Given the description of an element on the screen output the (x, y) to click on. 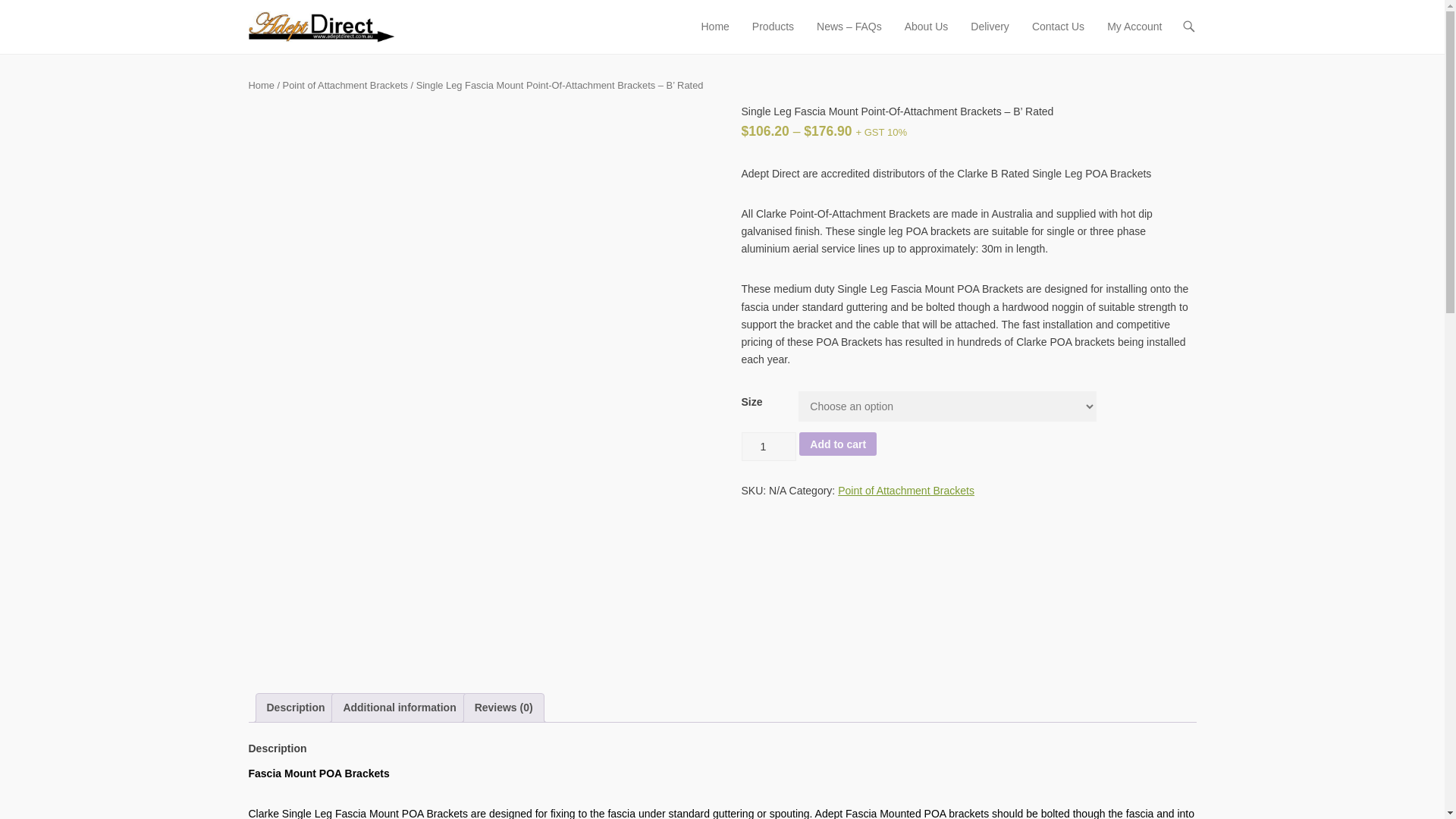
Skip to content (727, 27)
Point of Attachment Brackets (906, 490)
My Account (1134, 35)
1 (768, 446)
About Us (926, 35)
Skip to content (727, 27)
Adept Direct (448, 20)
Home (714, 35)
Contact Us (1058, 35)
Adept Direct (448, 20)
